Given the description of an element on the screen output the (x, y) to click on. 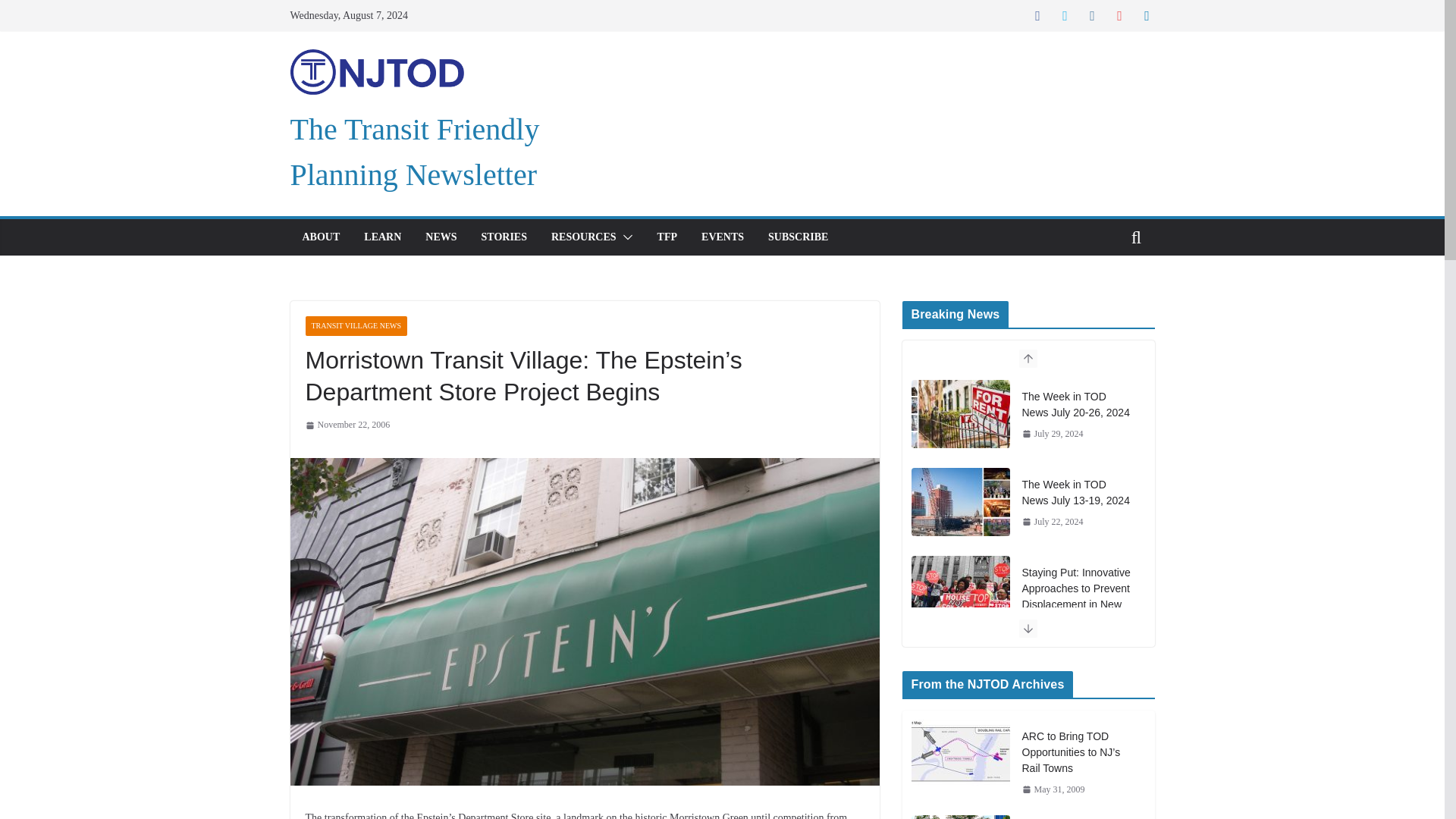
10:00 pm (347, 425)
STORIES (504, 237)
TRANSIT VILLAGE NEWS (355, 325)
The Week in TOD News July 20-26, 2024 (1078, 404)
The Week in TOD News July 20-26, 2024 (960, 413)
8:19 pm (1052, 433)
The Week in TOD News July 13-19, 2024 (1078, 492)
July 22, 2024 (1052, 521)
SUBSCRIBE (798, 237)
7:56 pm (1052, 521)
